Given the description of an element on the screen output the (x, y) to click on. 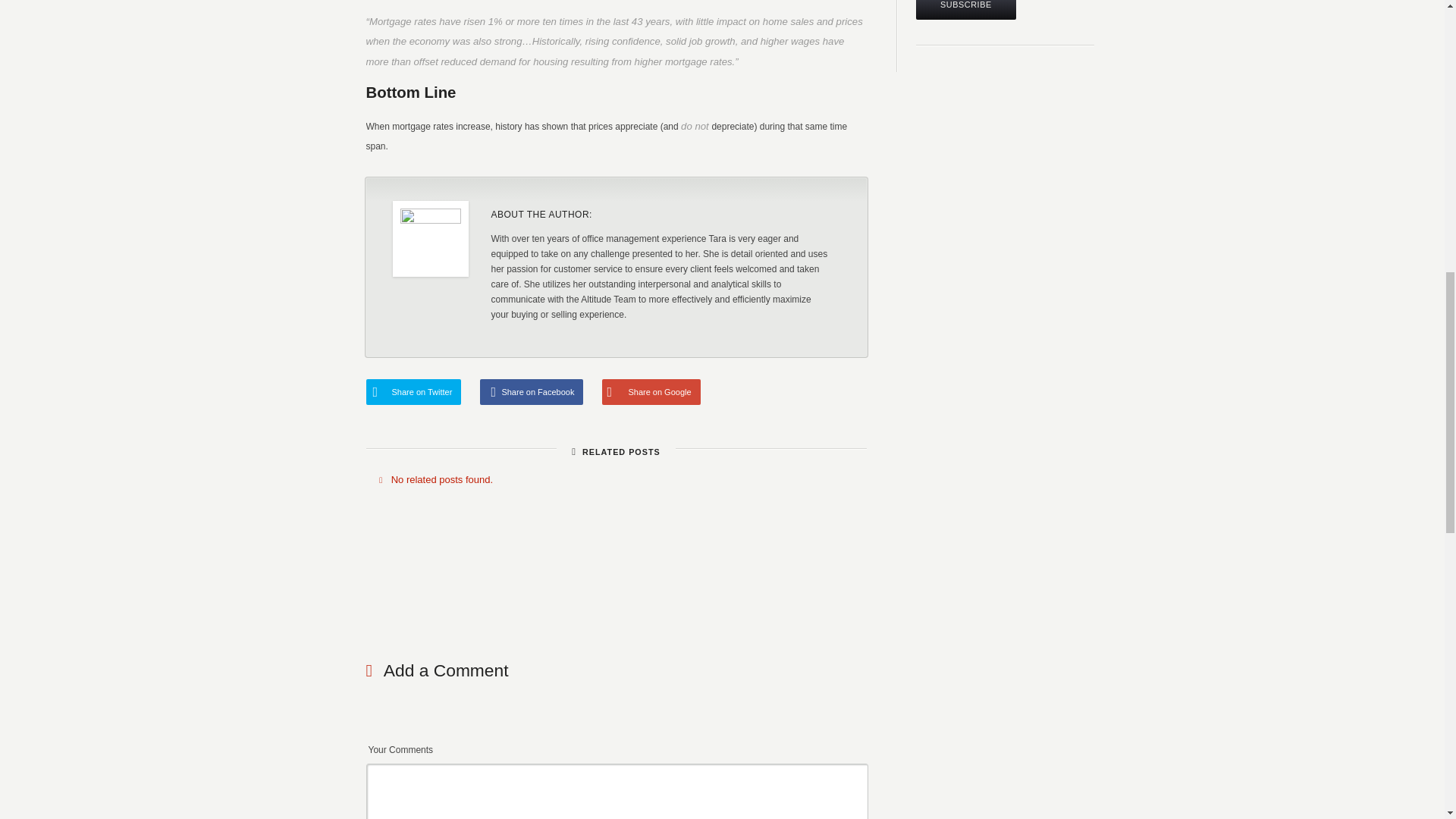
Share on Facebook (531, 391)
Share on Twitter (413, 391)
Subscribe (965, 9)
Share on Google (651, 391)
